Given the description of an element on the screen output the (x, y) to click on. 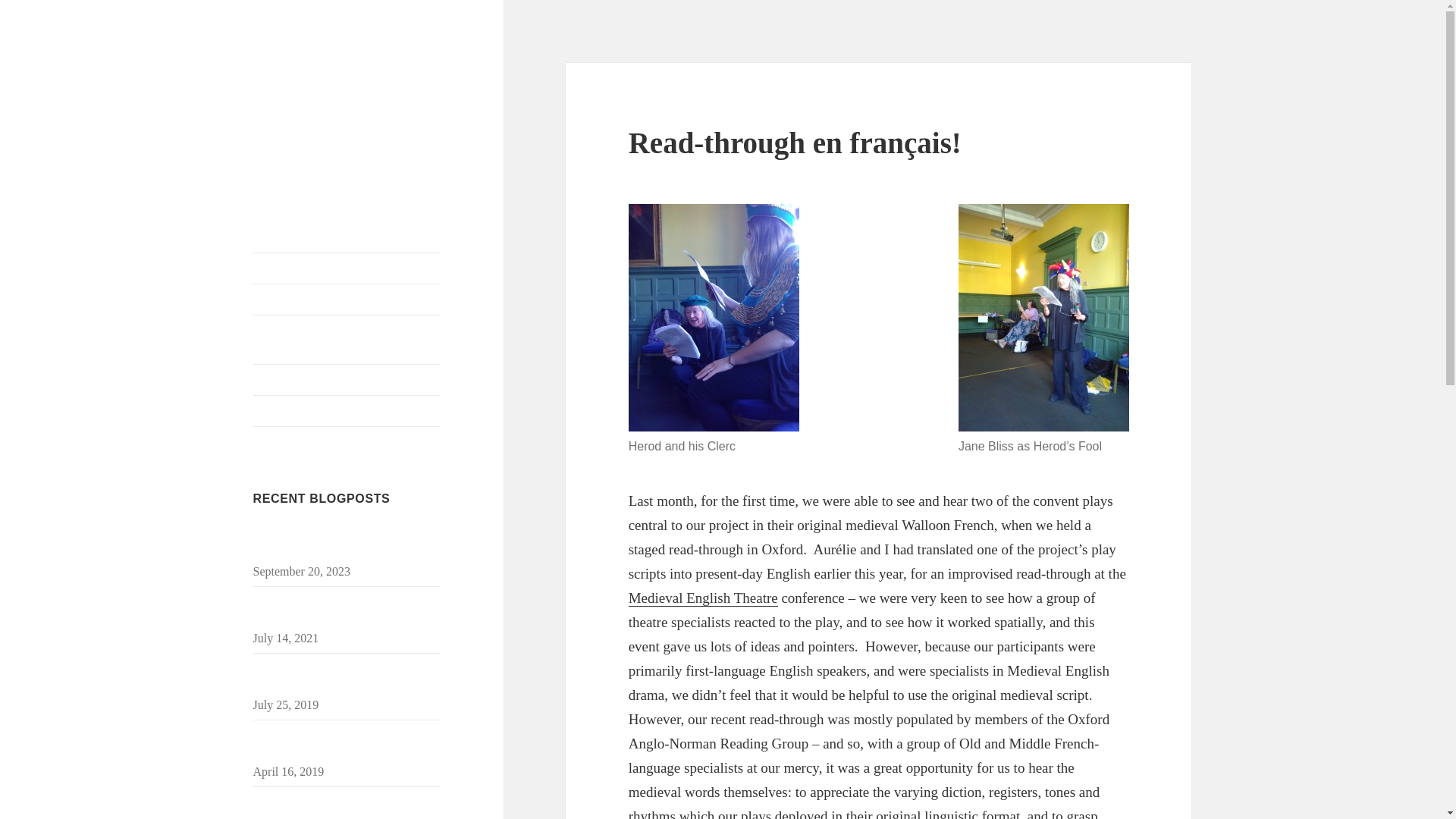
Blog Archive (347, 299)
Medieval English Theatre (702, 597)
Blog (347, 268)
Leeds IMC 2021: Performance Climates and Convent Drama (328, 610)
Project Team (347, 379)
Medieval Convent Drama (340, 86)
Archive of programmes from our performances (347, 339)
METh at Fribourg: Re-presenting the Resurrection (343, 744)
Project publications (347, 410)
